Given the description of an element on the screen output the (x, y) to click on. 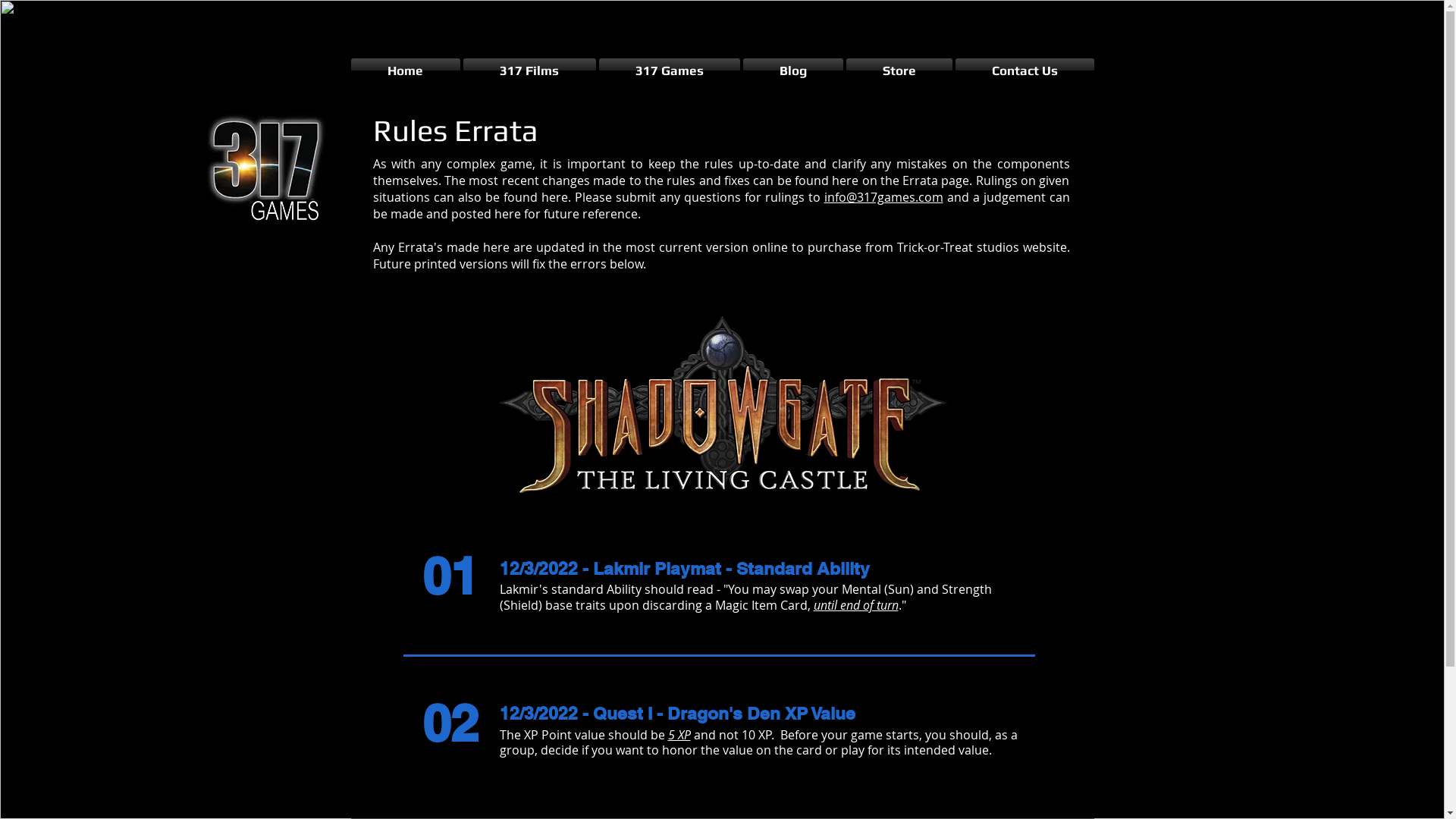
Blog Element type: text (792, 70)
Store Element type: text (898, 70)
Home Element type: text (405, 70)
Contact Us Element type: text (1023, 70)
info@317games.com Element type: text (882, 196)
